Given the description of an element on the screen output the (x, y) to click on. 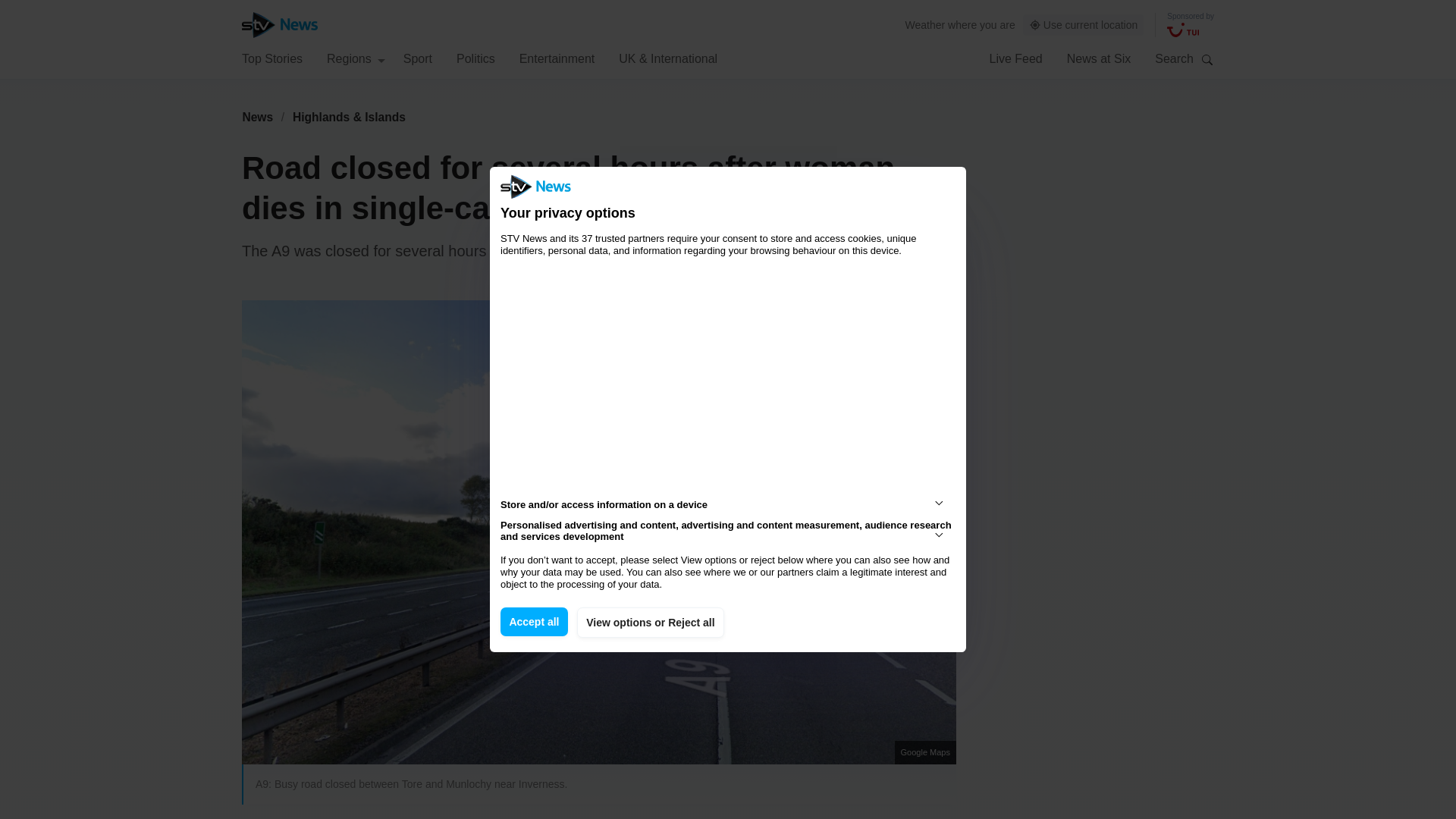
Top Stories (271, 57)
News at Six (1099, 57)
Use current location (1083, 25)
Entertainment (557, 57)
Regions (355, 57)
News (257, 116)
Live Feed (1015, 57)
Weather (924, 24)
Politics (476, 57)
Search (1206, 59)
